Given the description of an element on the screen output the (x, y) to click on. 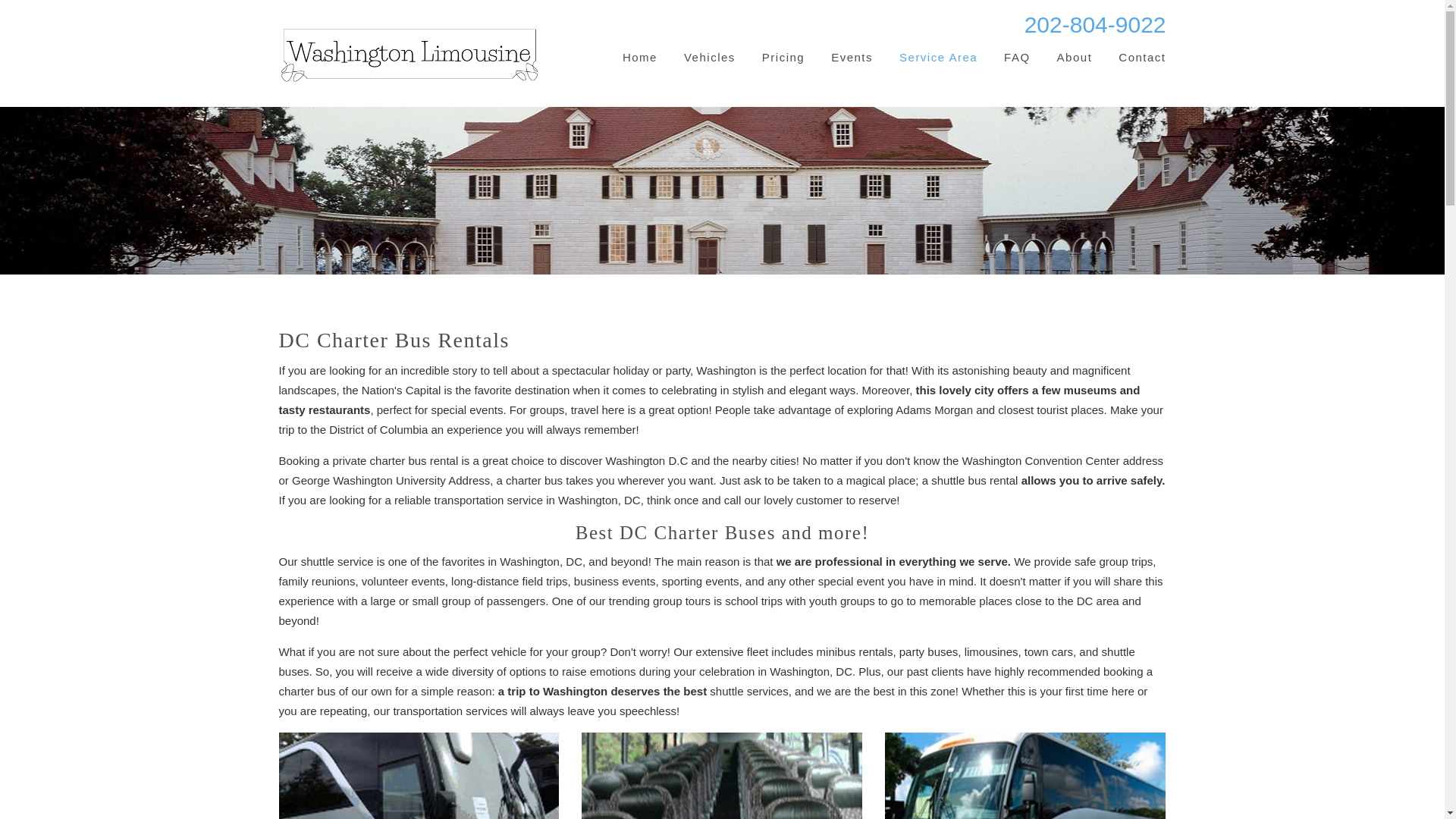
Home (640, 57)
202-804-9022 (1095, 24)
About (1075, 57)
Service Area (937, 57)
Contact (1142, 57)
Events (851, 57)
FAQ (1017, 57)
Pricing (783, 57)
Vehicles (709, 57)
